Given the description of an element on the screen output the (x, y) to click on. 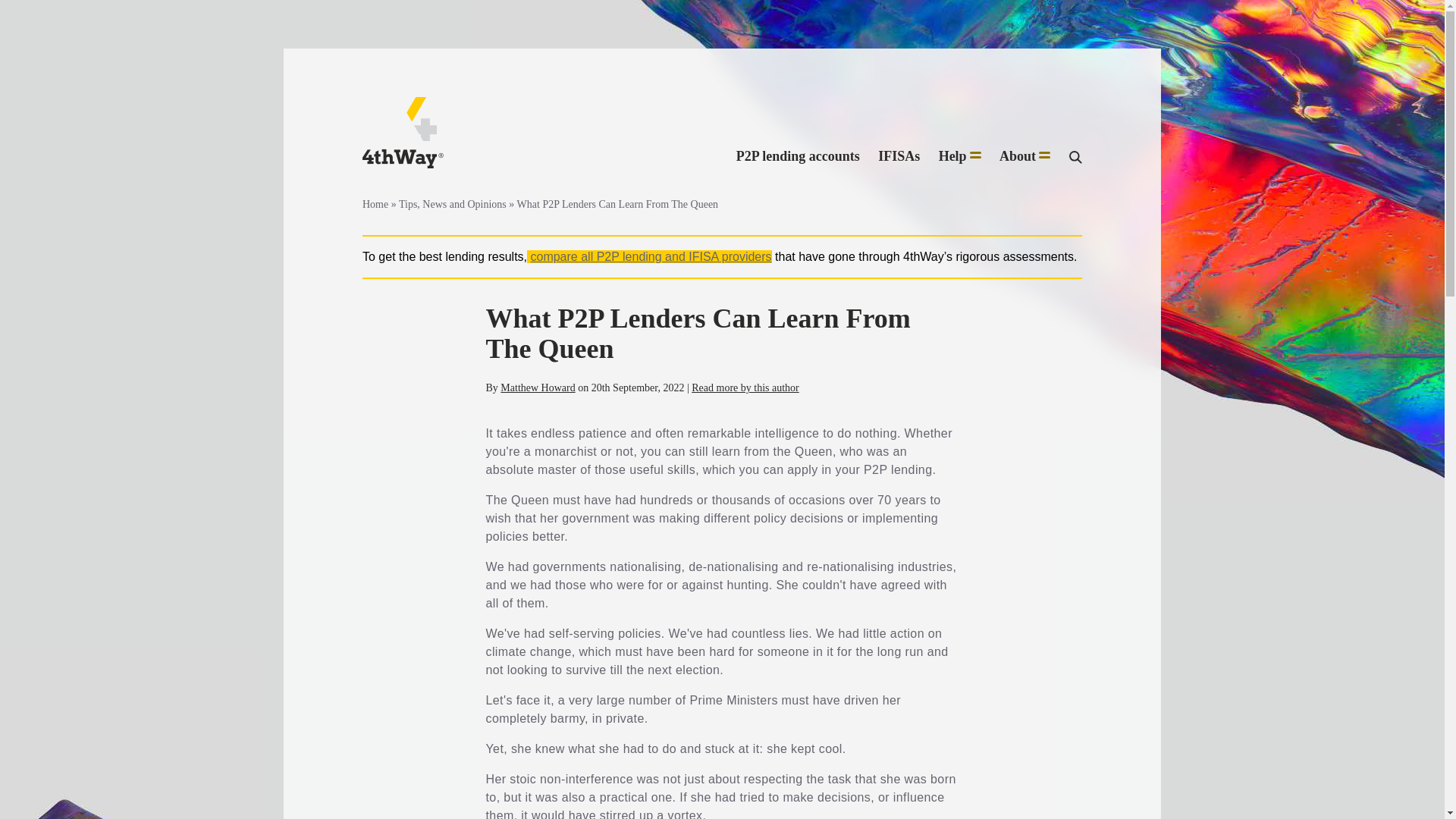
Home (375, 204)
IFISAs (898, 156)
Help (960, 156)
Matthew Howard (537, 387)
P2P lending accounts (798, 156)
Read more by this author (745, 387)
compare all P2P lending and IFISA providers (650, 256)
About (1023, 156)
Tips, News and Opinions (452, 204)
